Given the description of an element on the screen output the (x, y) to click on. 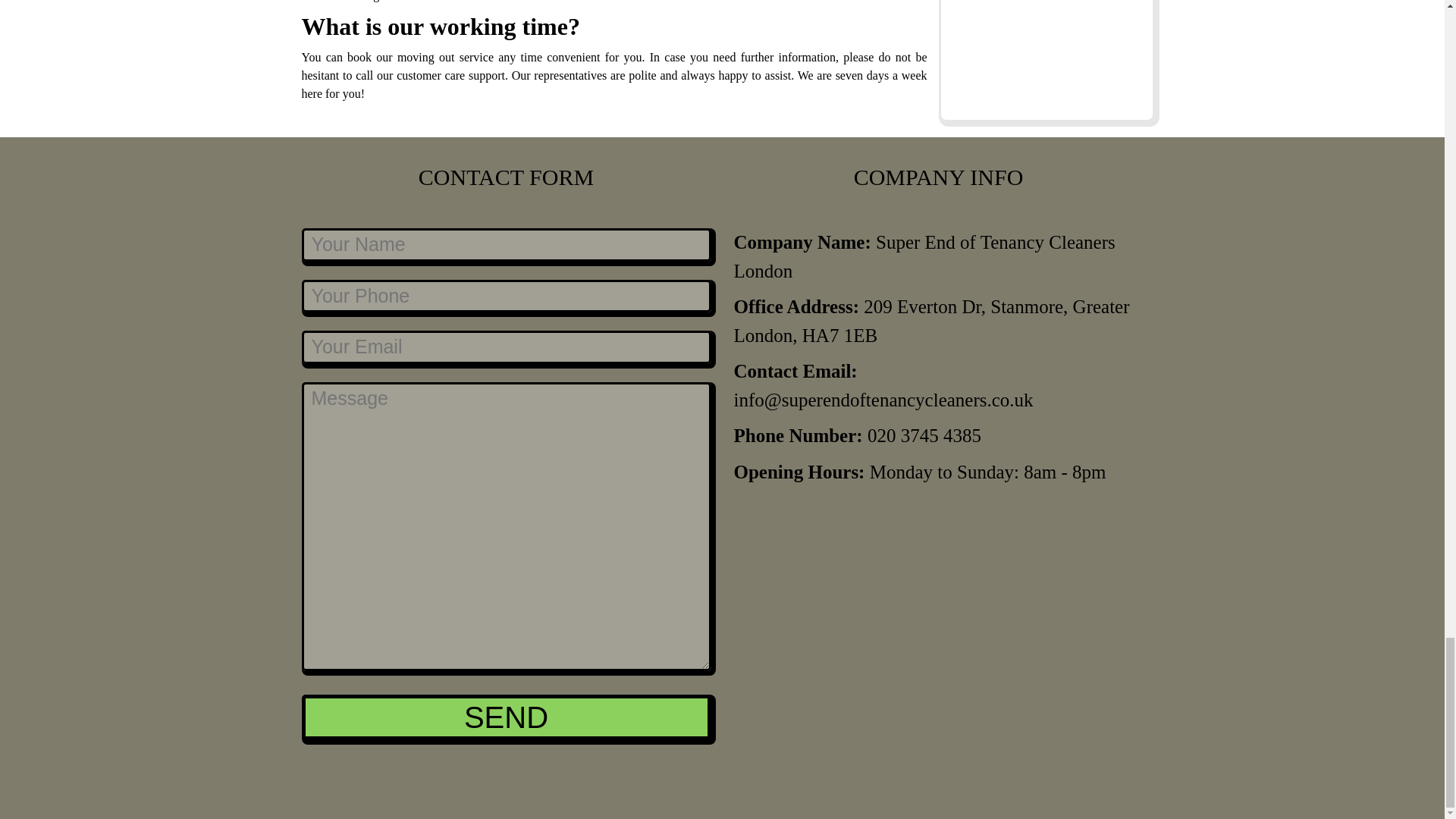
Send (506, 717)
Send (506, 717)
